Given the description of an element on the screen output the (x, y) to click on. 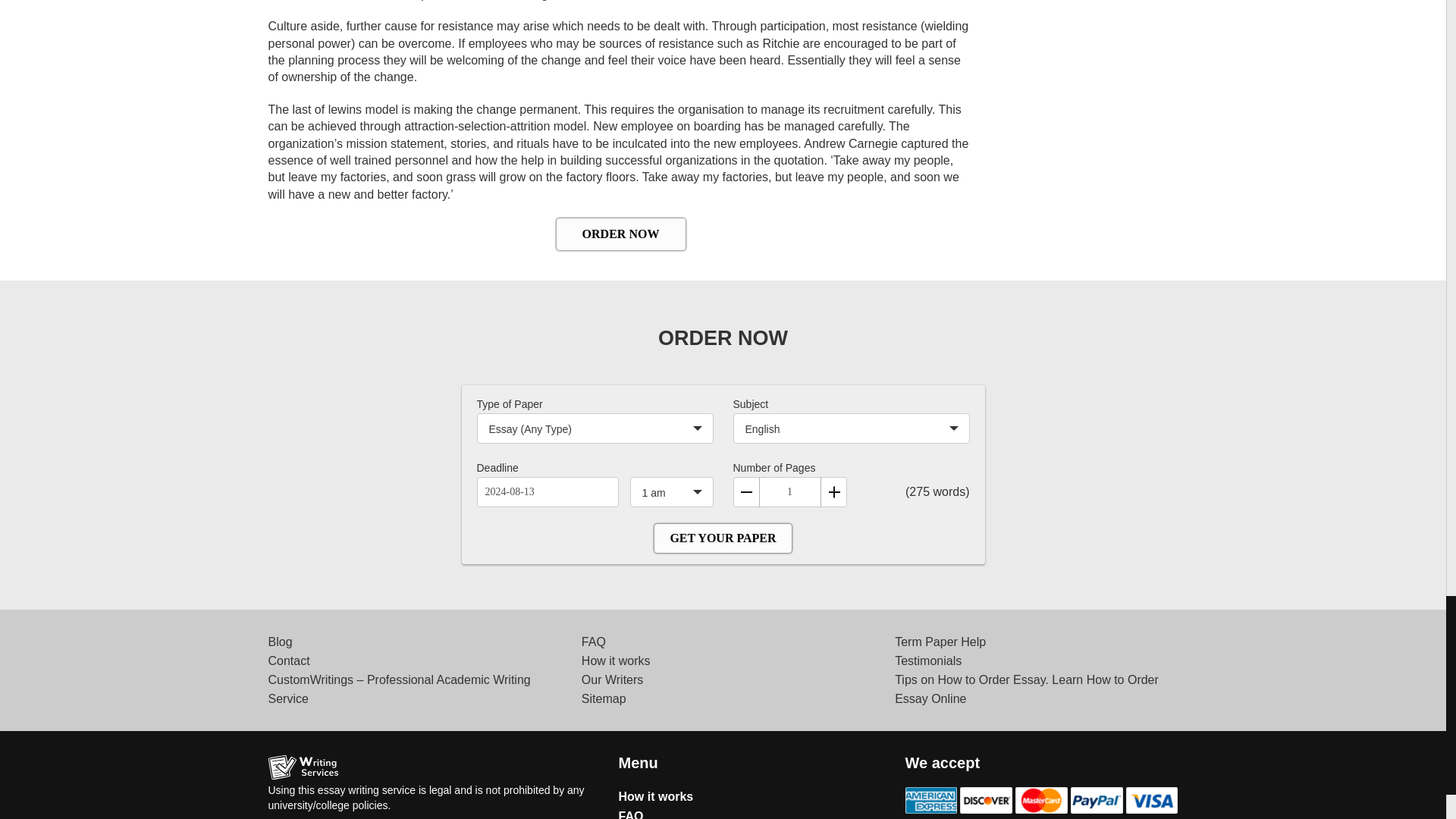
Tips on How to Order Essay. Learn How to Order Essay Online (1026, 689)
Our Writers (611, 679)
Testimonials (927, 660)
2024-08-13 (546, 491)
Get your paper (721, 538)
FAQ (630, 814)
Sitemap (603, 698)
Get your paper (721, 538)
FAQ (592, 641)
How it works (615, 660)
Contact (288, 660)
ORDER NOW (620, 234)
How it works (656, 796)
1 (788, 491)
Blog (279, 641)
